Given the description of an element on the screen output the (x, y) to click on. 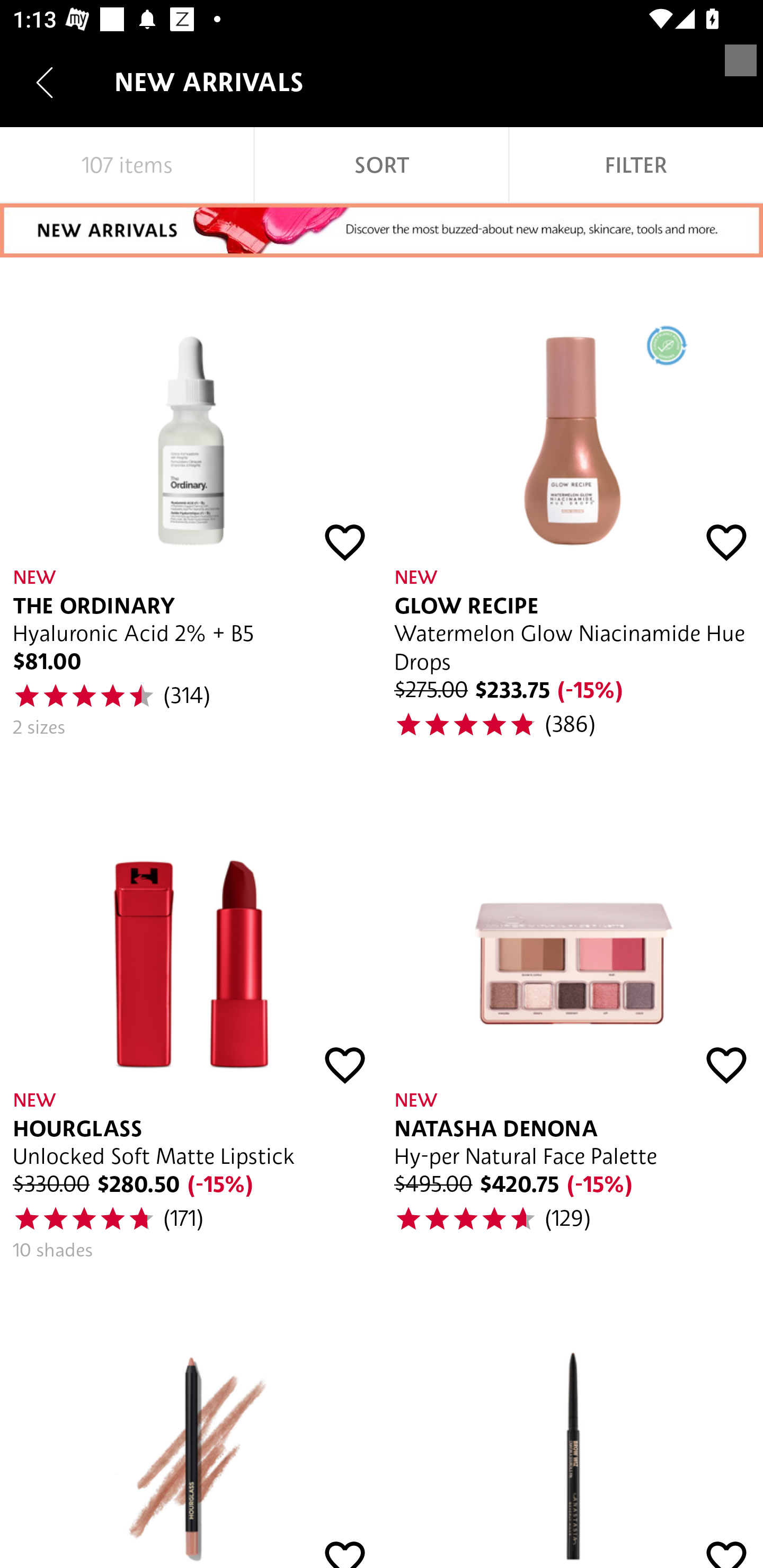
Navigate up (44, 82)
SORT (381, 165)
FILTER (636, 165)
